Given the description of an element on the screen output the (x, y) to click on. 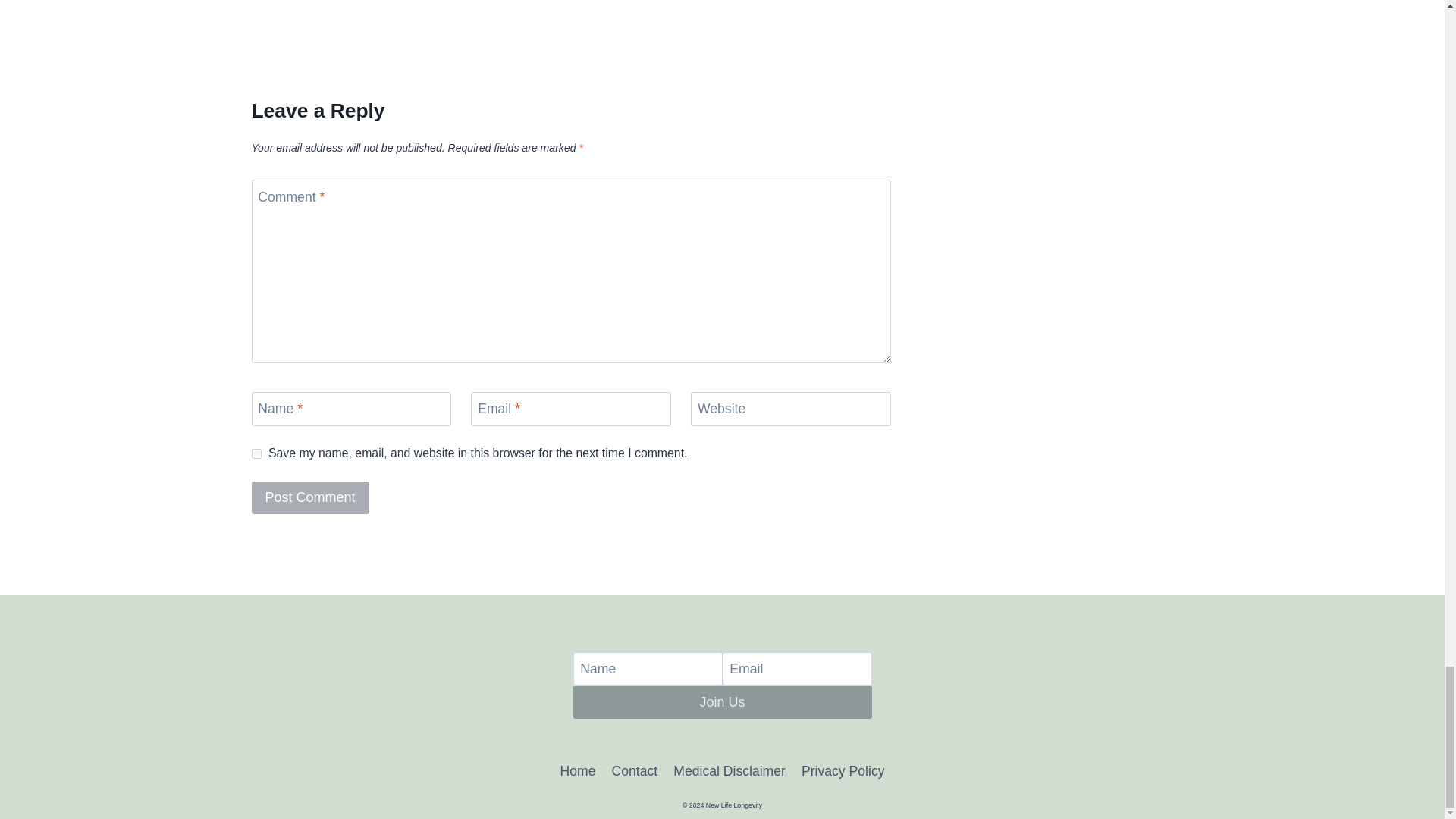
Post Comment (310, 497)
yes (256, 453)
Join Us (722, 701)
